Given the description of an element on the screen output the (x, y) to click on. 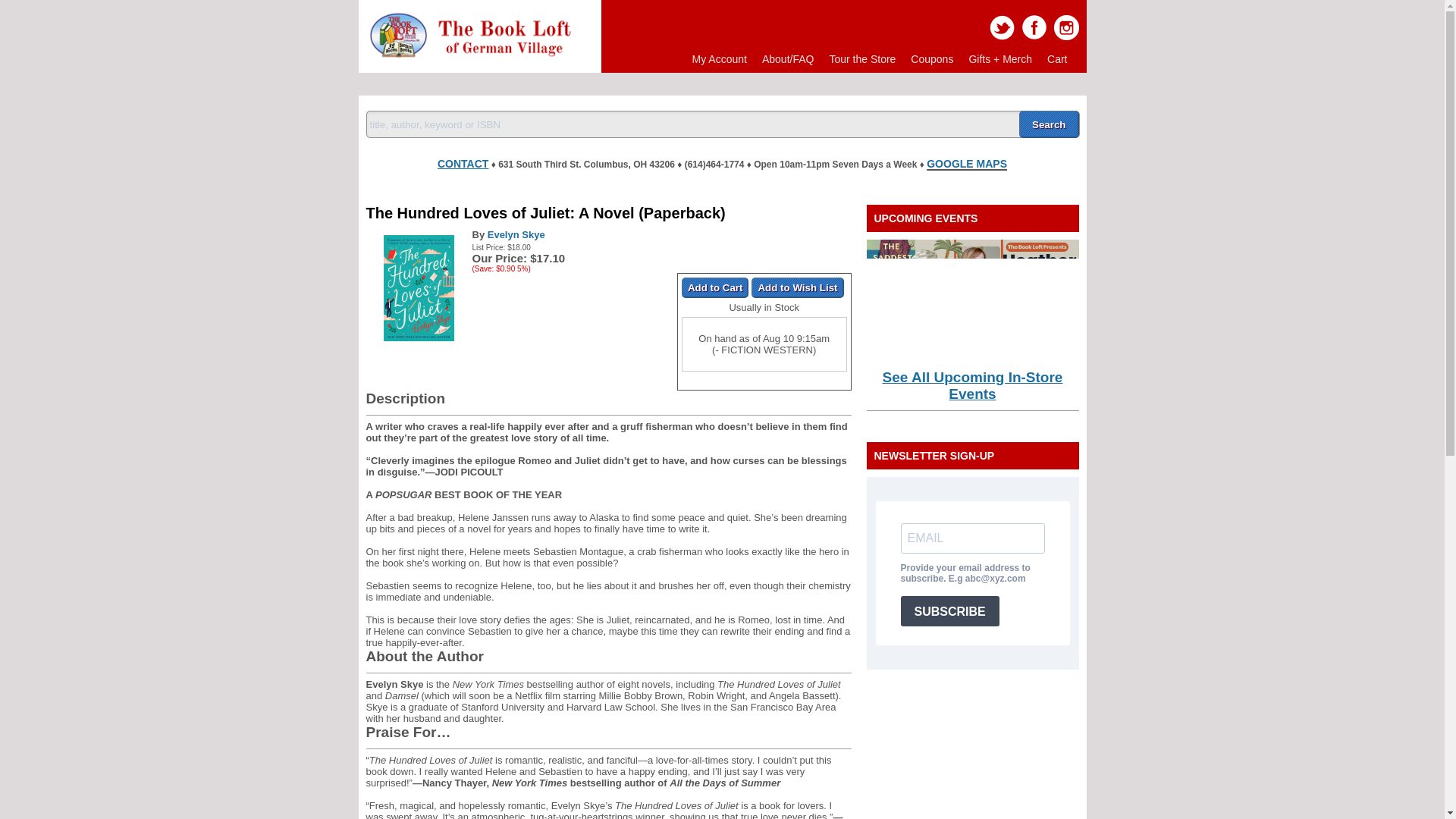
My Account (719, 58)
Search (1048, 124)
Coupons (931, 58)
GOOGLE MAPS (966, 163)
Add to Cart (715, 287)
Search (1048, 124)
Add to Cart (715, 287)
Add to Wish List (797, 287)
CONTACT (462, 161)
